Given the description of an element on the screen output the (x, y) to click on. 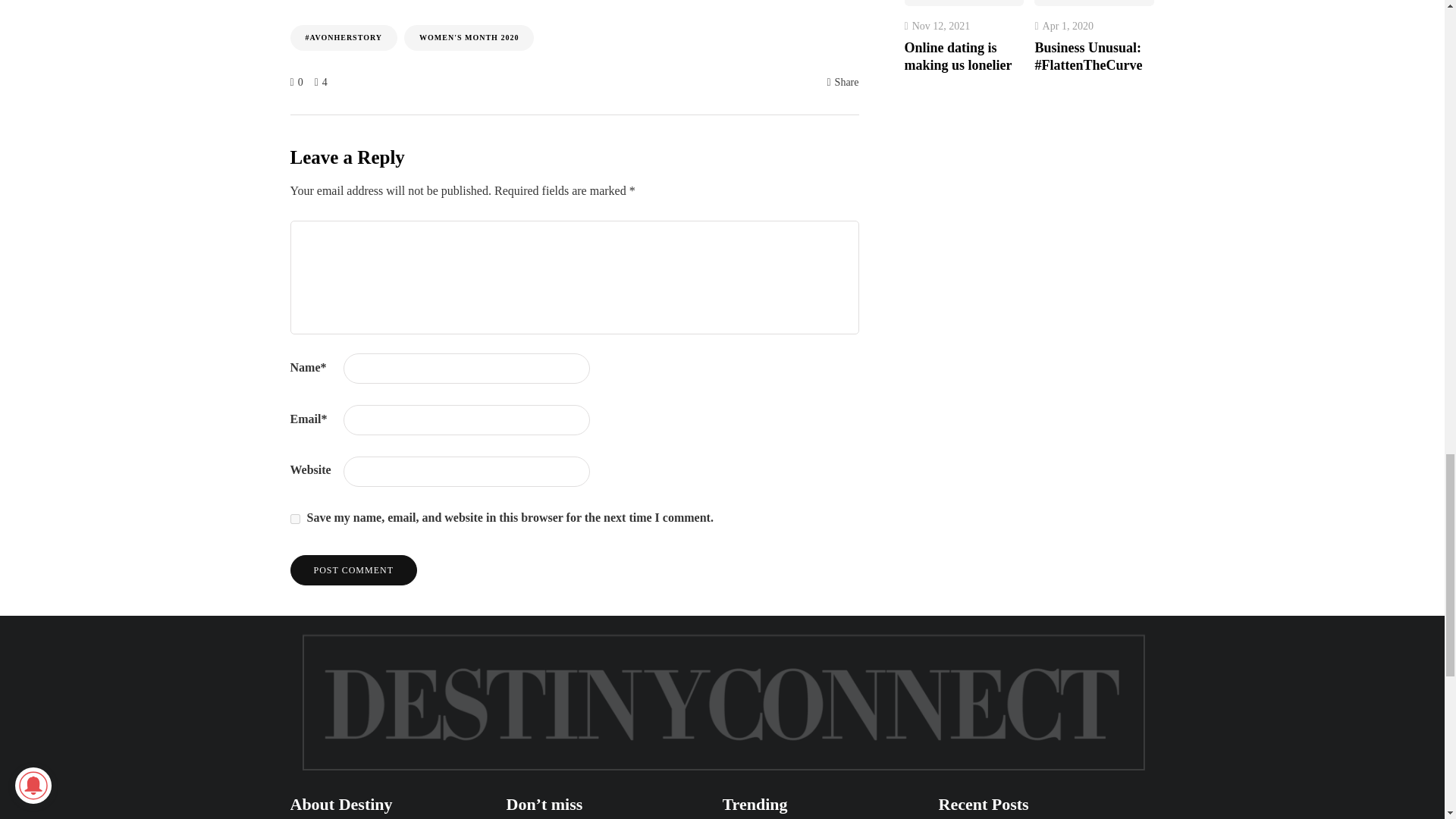
Post comment (352, 570)
yes (294, 519)
